Given the description of an element on the screen output the (x, y) to click on. 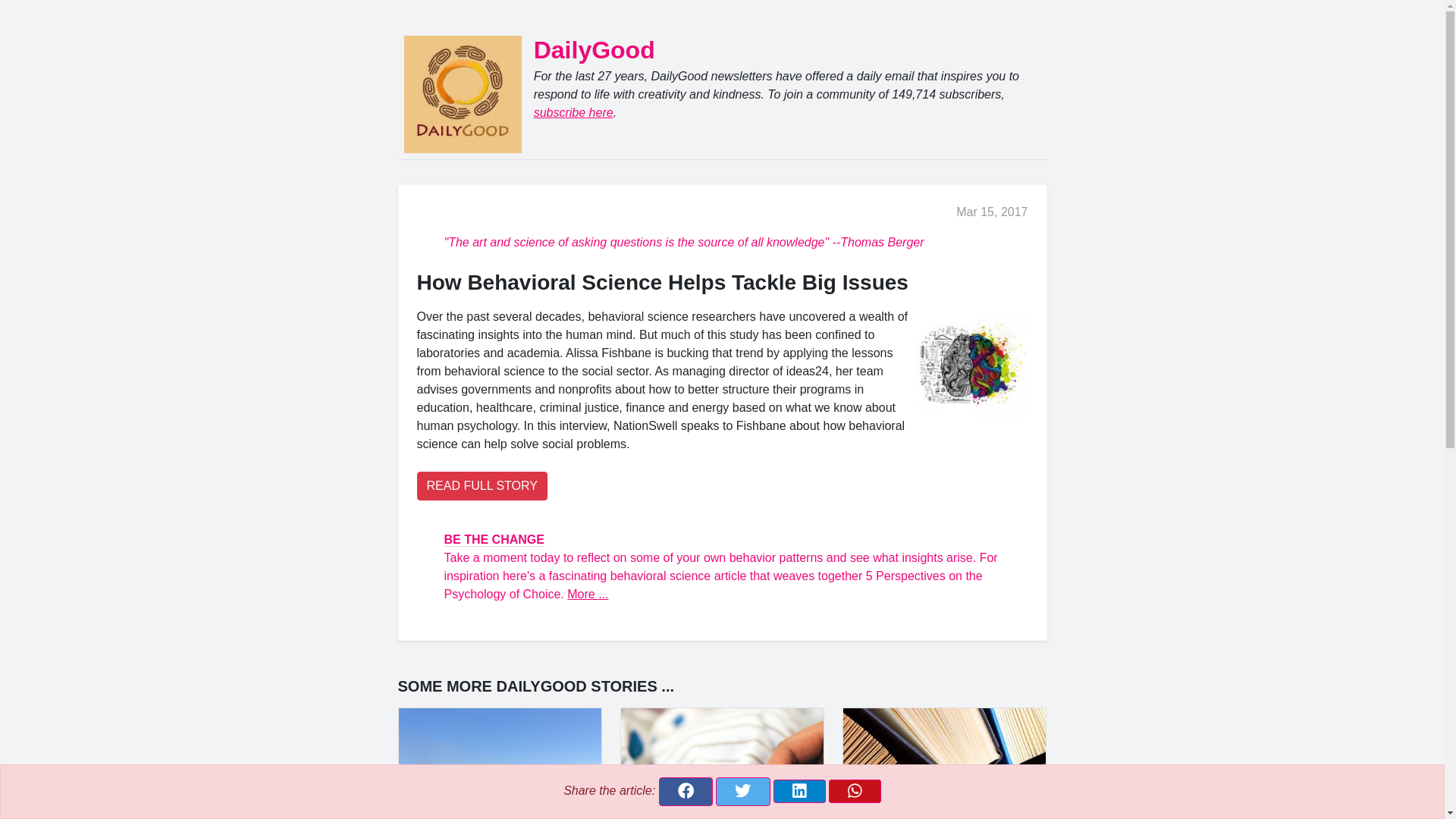
READ FULL STORY (481, 485)
subscribe here (573, 112)
More ... (587, 594)
